Given the description of an element on the screen output the (x, y) to click on. 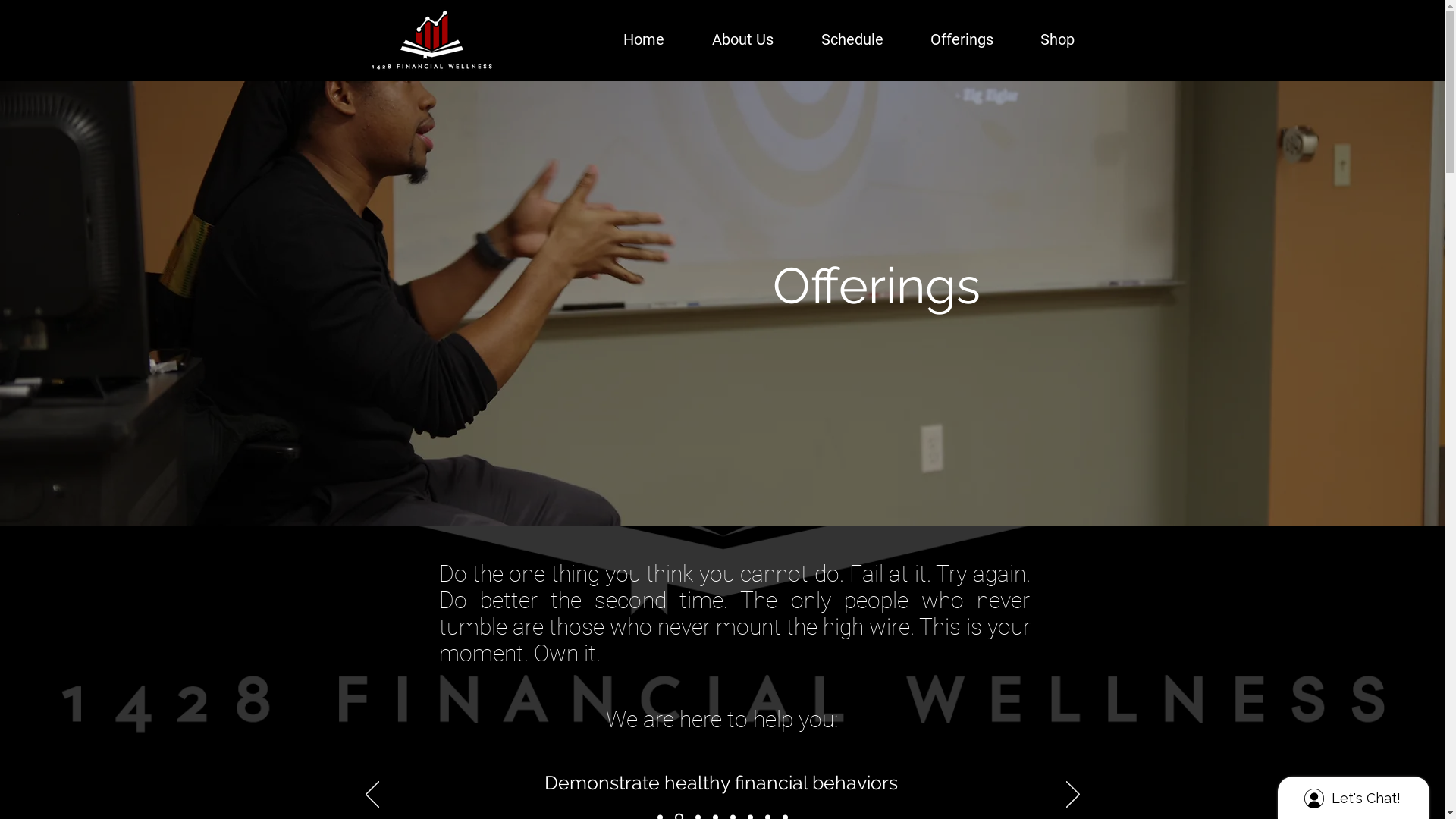
Schedule Element type: text (836, 39)
About Us Element type: text (726, 39)
Home Element type: text (626, 39)
Shop Element type: text (1041, 39)
Offerings Element type: text (945, 39)
